Given the description of an element on the screen output the (x, y) to click on. 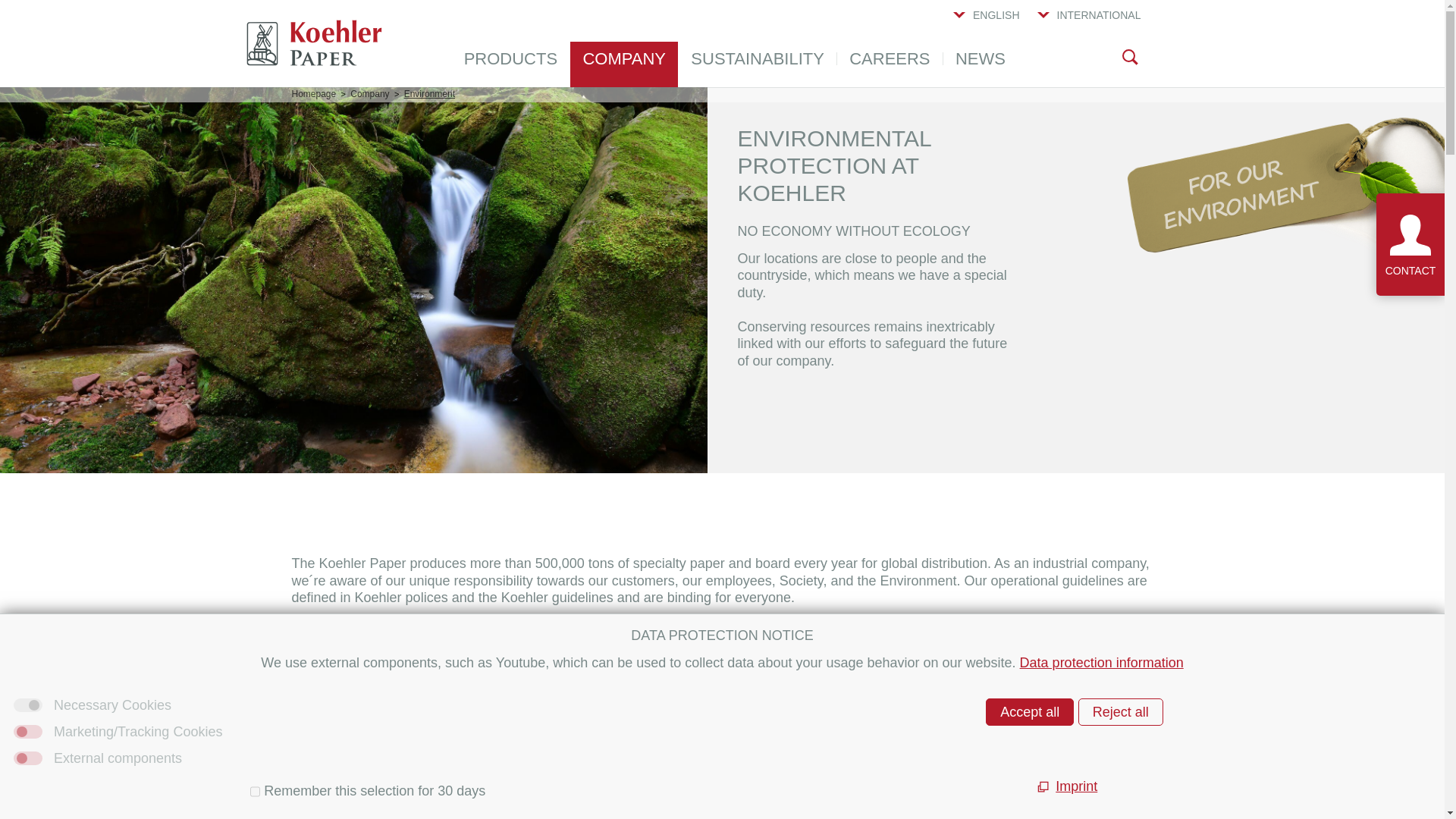
COMPANY (624, 63)
CAREERS (889, 63)
NEWS (980, 63)
ENGLISH (983, 24)
SUSTAINABILITY (756, 63)
INTERNATIONAL (1087, 24)
PRODUCTS (510, 63)
Home (313, 42)
